Given the description of an element on the screen output the (x, y) to click on. 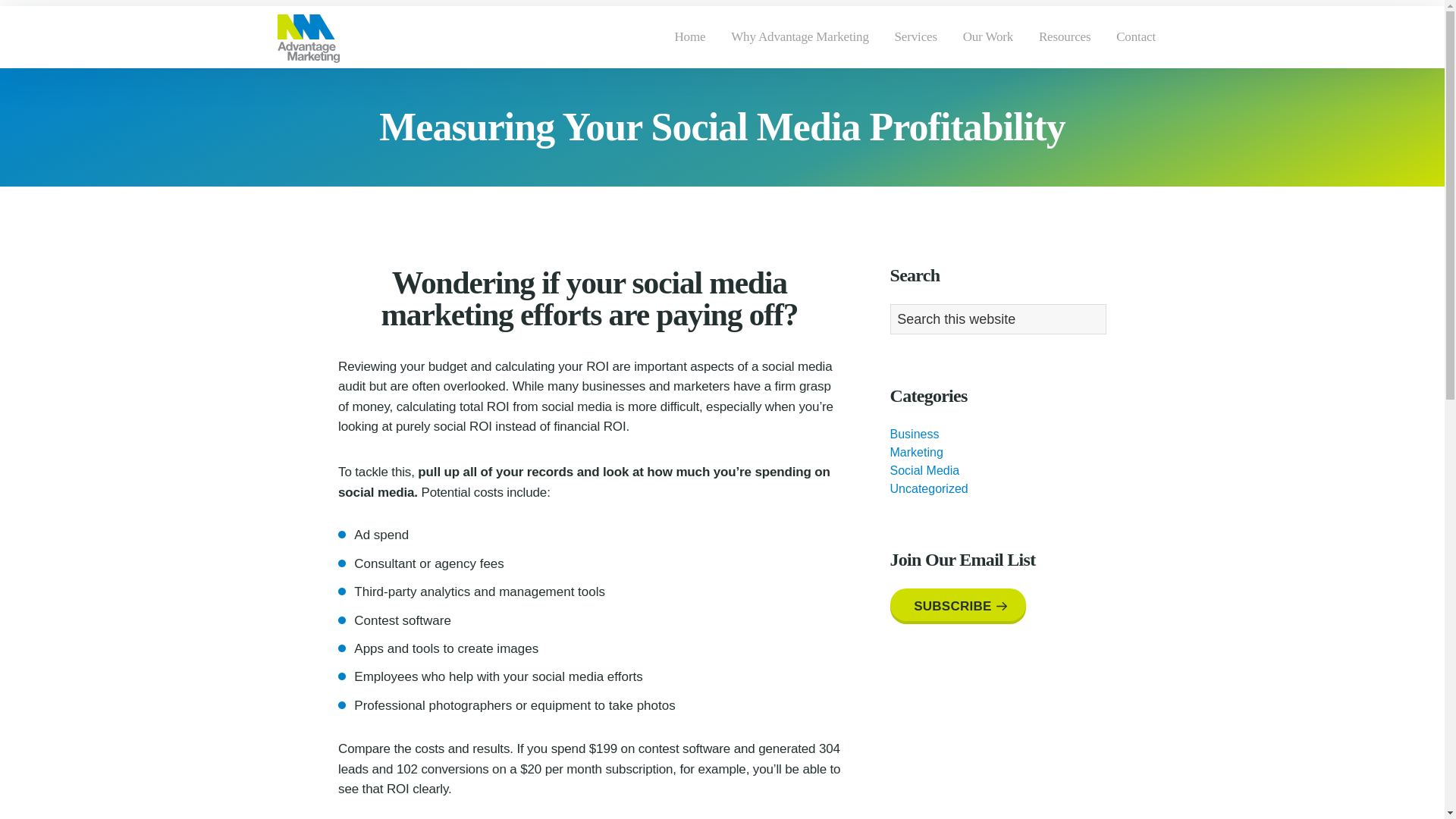
Services (916, 36)
Home (689, 36)
Why Advantage Marketing (800, 36)
Our Work (988, 36)
Resources (1064, 36)
Advantage Marketing (315, 83)
